Given the description of an element on the screen output the (x, y) to click on. 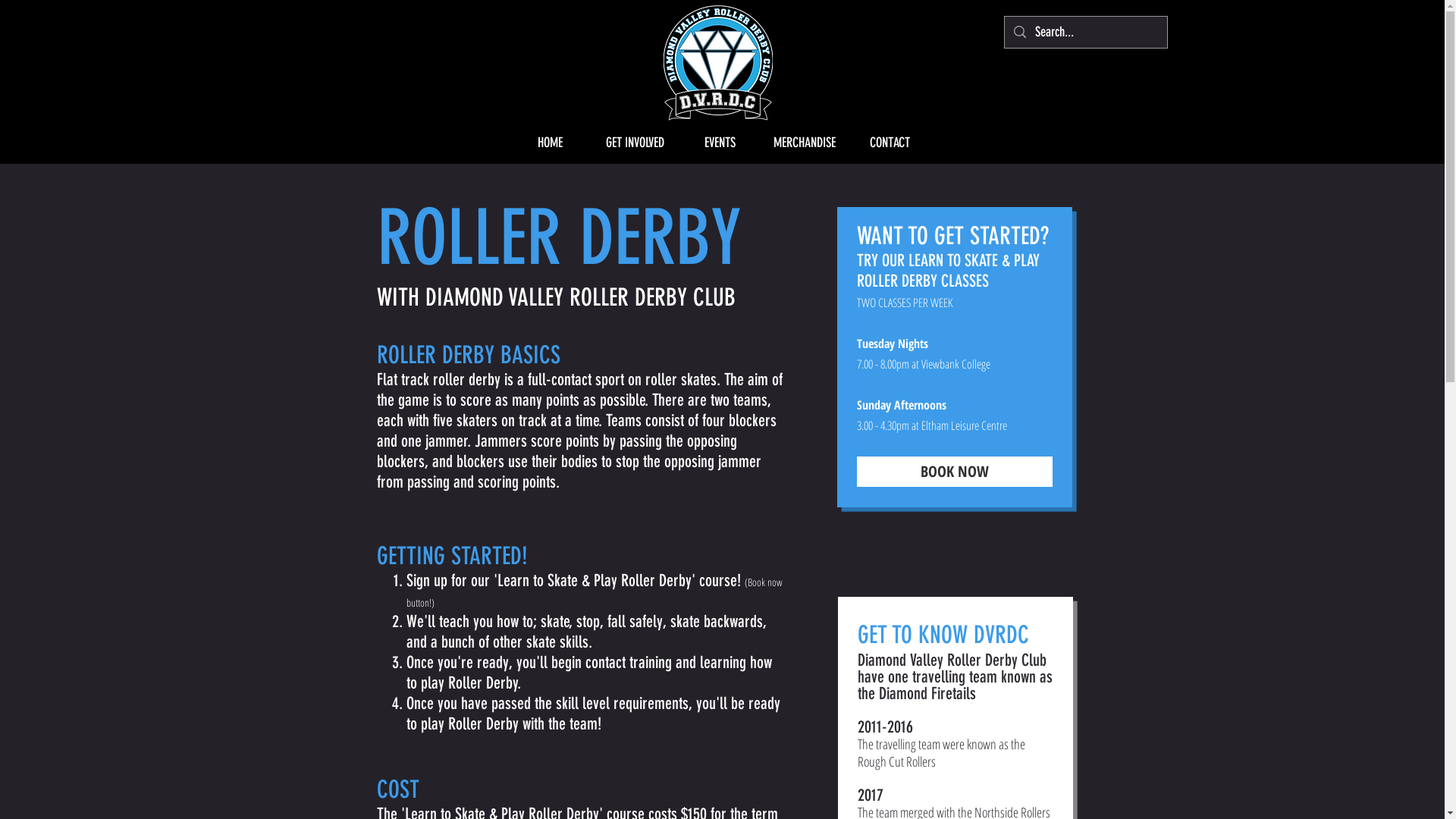
GET INVOLVED Element type: text (634, 142)
MERCHANDISE Element type: text (804, 142)
BOOK NOW Element type: text (954, 471)
CONTACT Element type: text (889, 142)
HOME Element type: text (549, 142)
EVENTS Element type: text (719, 142)
